Given the description of an element on the screen output the (x, y) to click on. 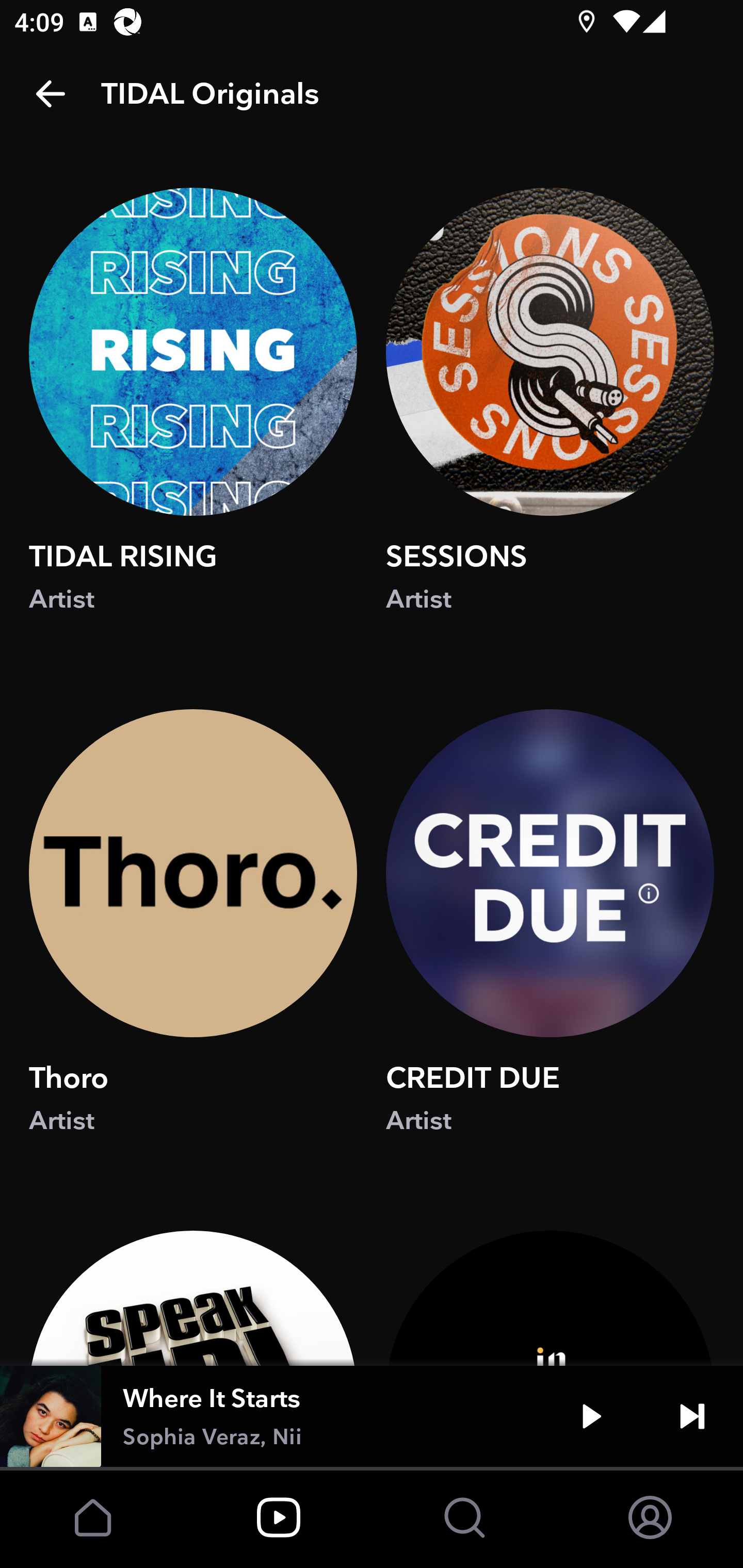
TIDAL RISING Artist (192, 419)
SESSIONS Artist (549, 419)
Thoro Artist (192, 940)
CREDIT DUE Artist (549, 940)
Where It Starts Sophia Veraz, Nii Play (371, 1416)
Play (590, 1416)
